Given the description of an element on the screen output the (x, y) to click on. 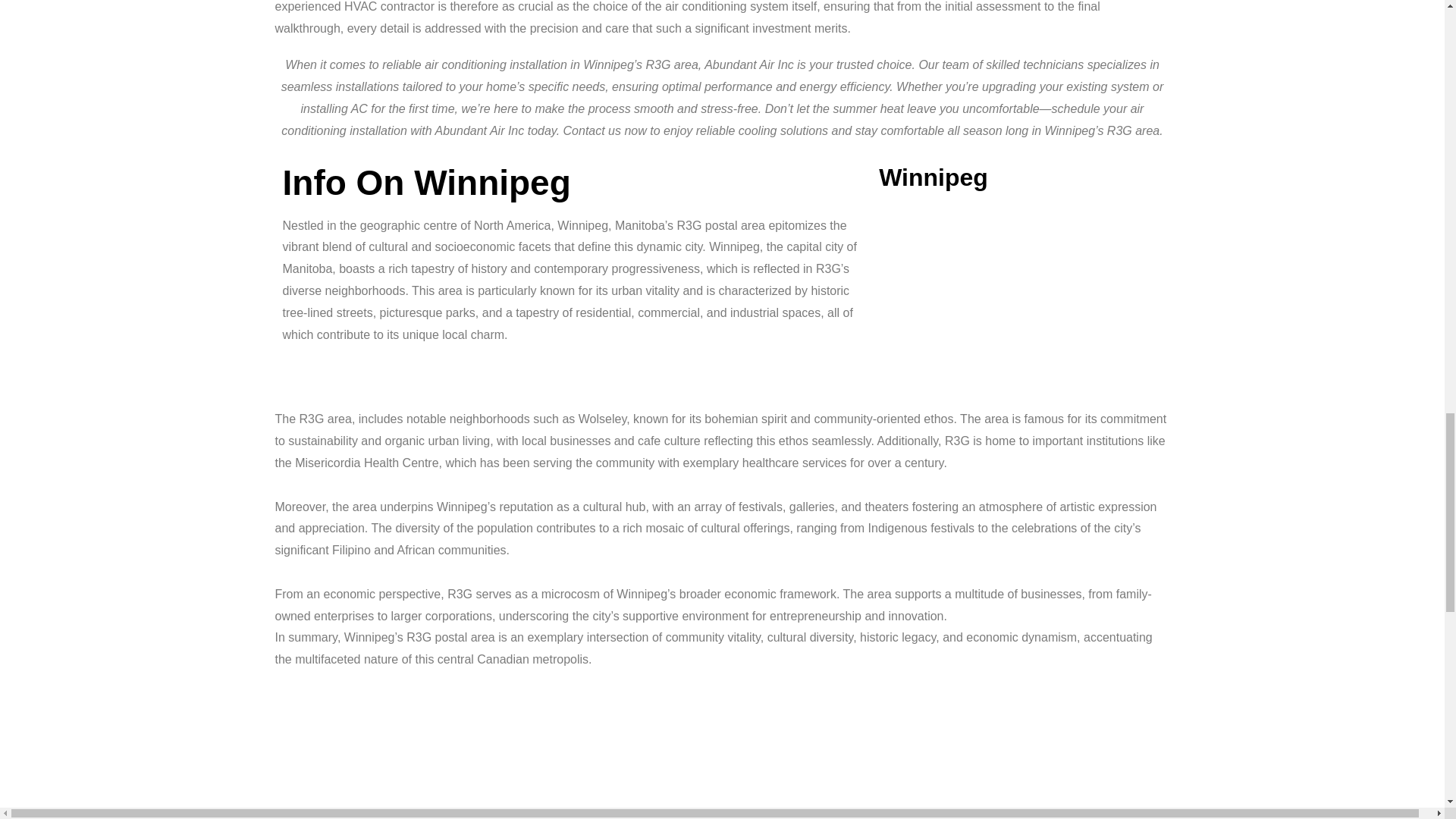
Abundant Air Winnipeg (722, 752)
